Given the description of an element on the screen output the (x, y) to click on. 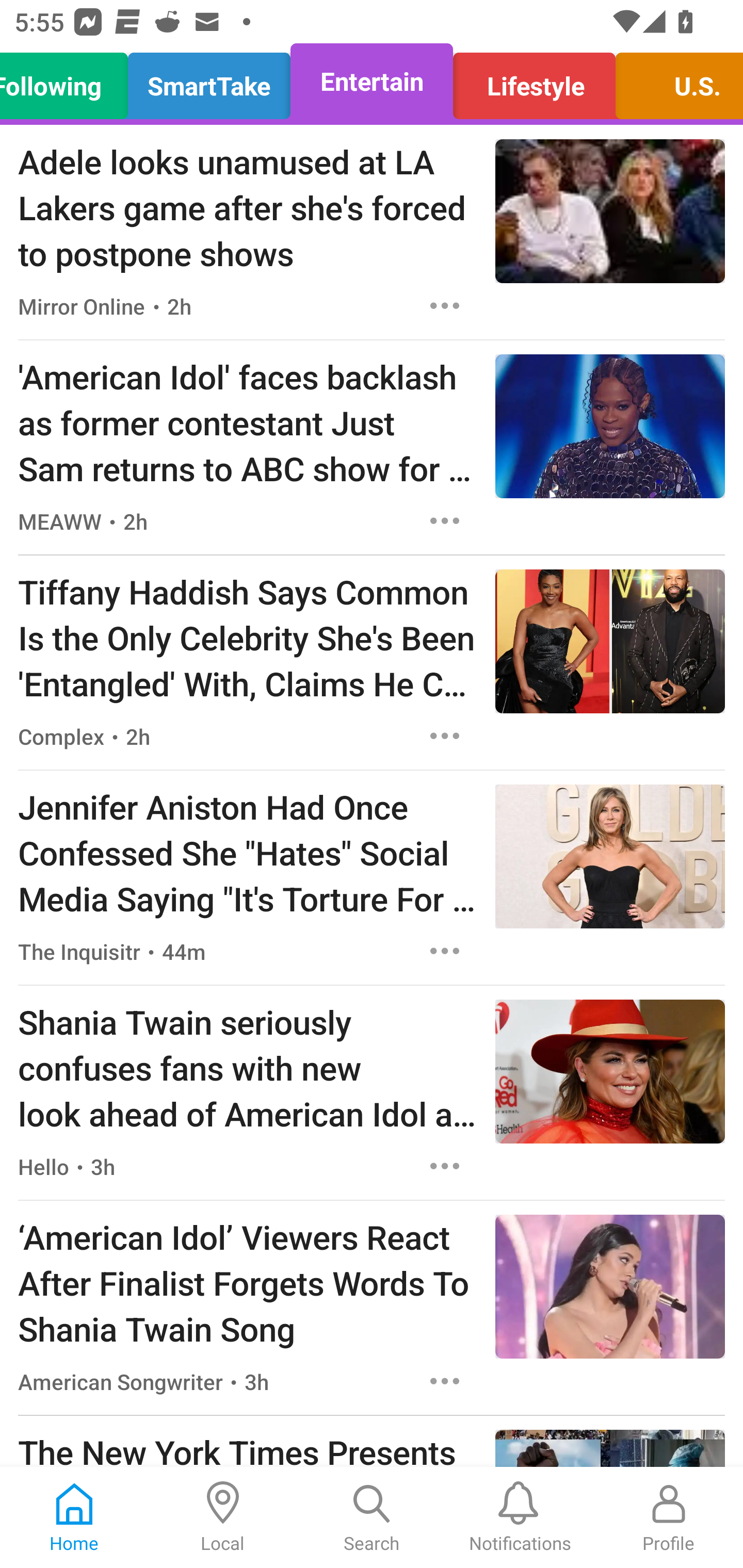
Following (69, 81)
SmartTake (209, 81)
Entertain (371, 81)
Lifestyle (534, 81)
U.S. (673, 81)
Options (444, 305)
Options (444, 520)
Options (444, 736)
Options (444, 950)
Options (444, 1166)
Options (444, 1381)
Local (222, 1517)
Search (371, 1517)
Notifications (519, 1517)
Profile (668, 1517)
